Given the description of an element on the screen output the (x, y) to click on. 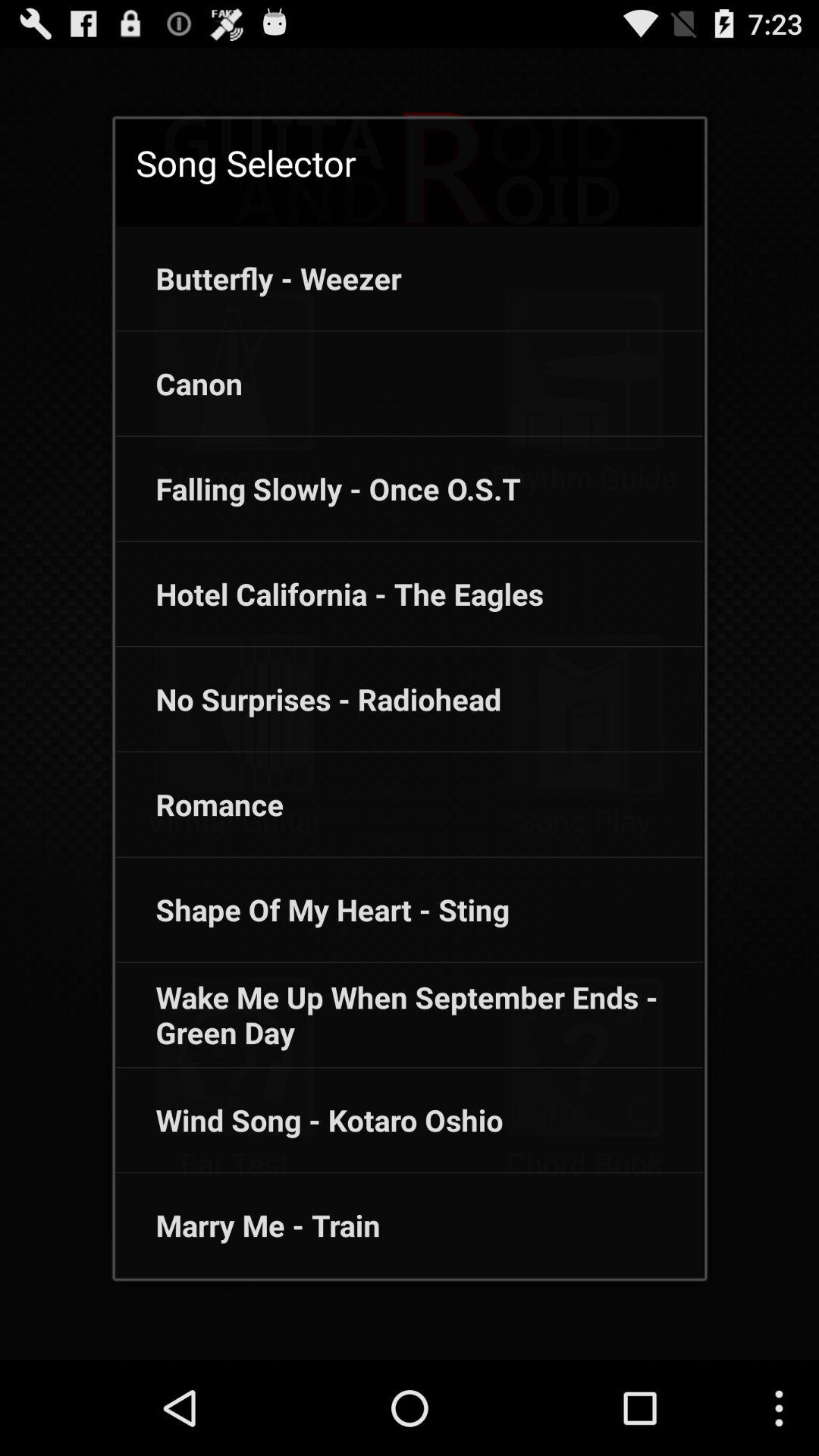
click the falling slowly once app (318, 488)
